Given the description of an element on the screen output the (x, y) to click on. 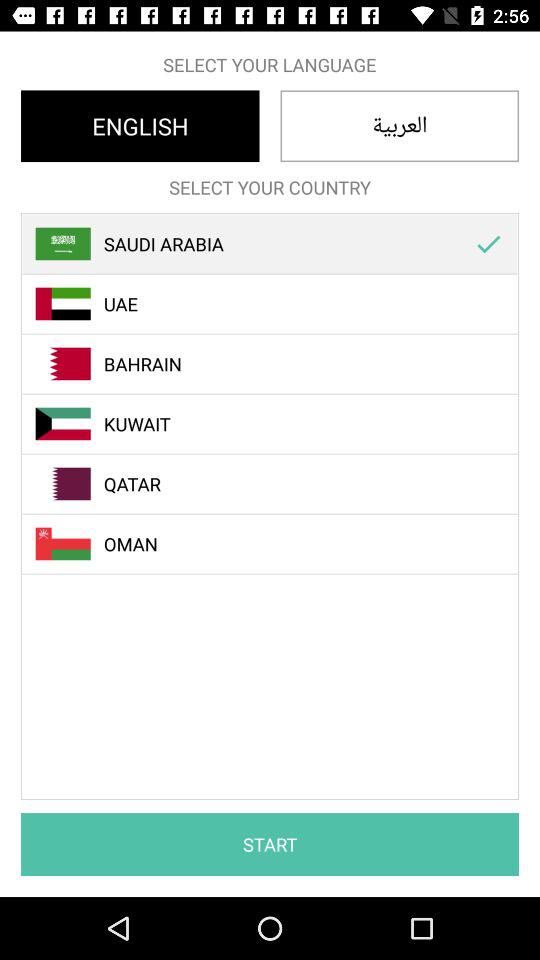
press the bahrain item (281, 363)
